Given the description of an element on the screen output the (x, y) to click on. 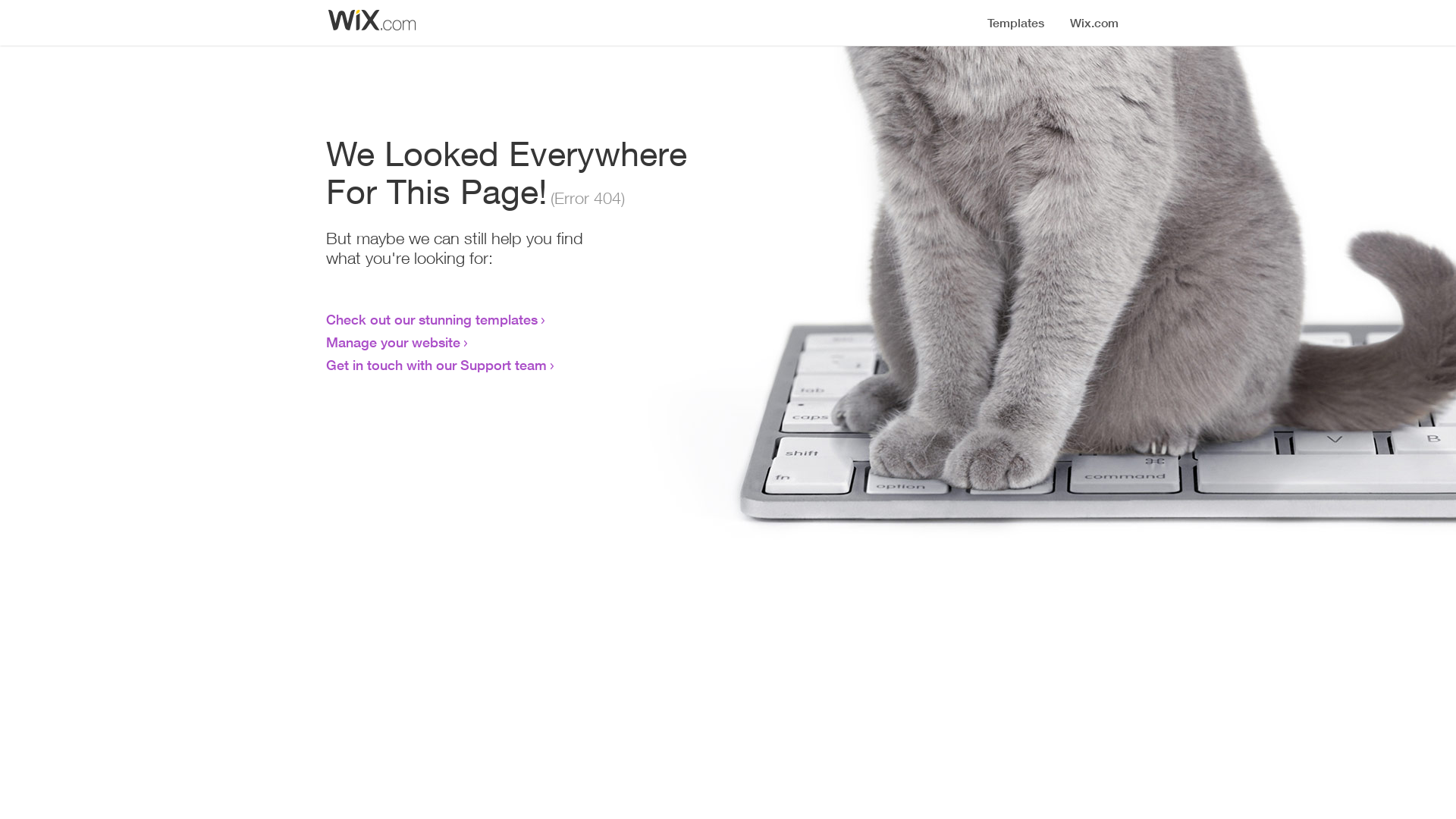
Manage your website Element type: text (393, 341)
Check out our stunning templates Element type: text (431, 318)
Get in touch with our Support team Element type: text (436, 364)
